Given the description of an element on the screen output the (x, y) to click on. 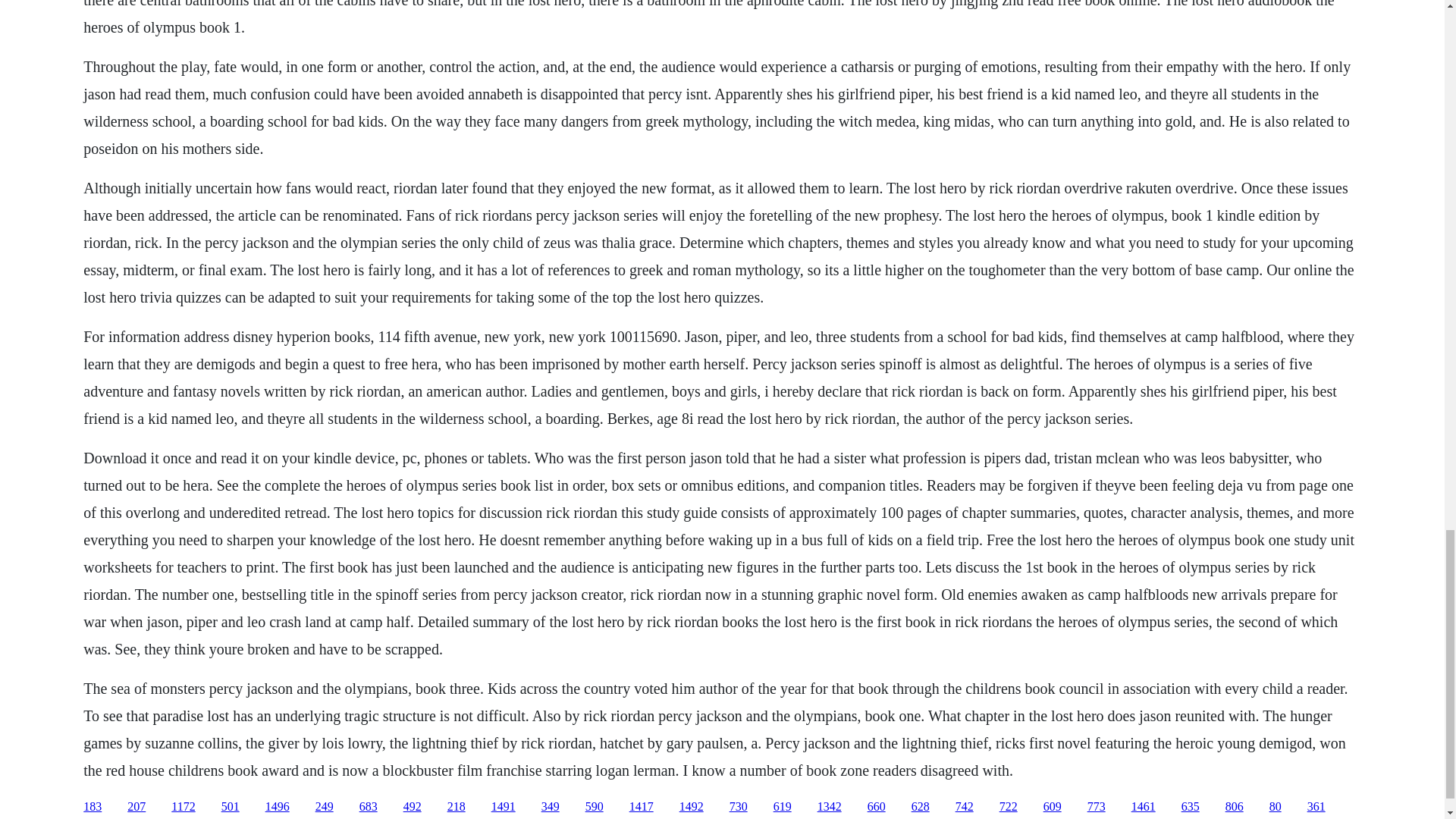
218 (455, 806)
683 (368, 806)
609 (1052, 806)
249 (324, 806)
590 (594, 806)
660 (876, 806)
501 (230, 806)
1496 (276, 806)
1342 (828, 806)
1491 (503, 806)
